Given the description of an element on the screen output the (x, y) to click on. 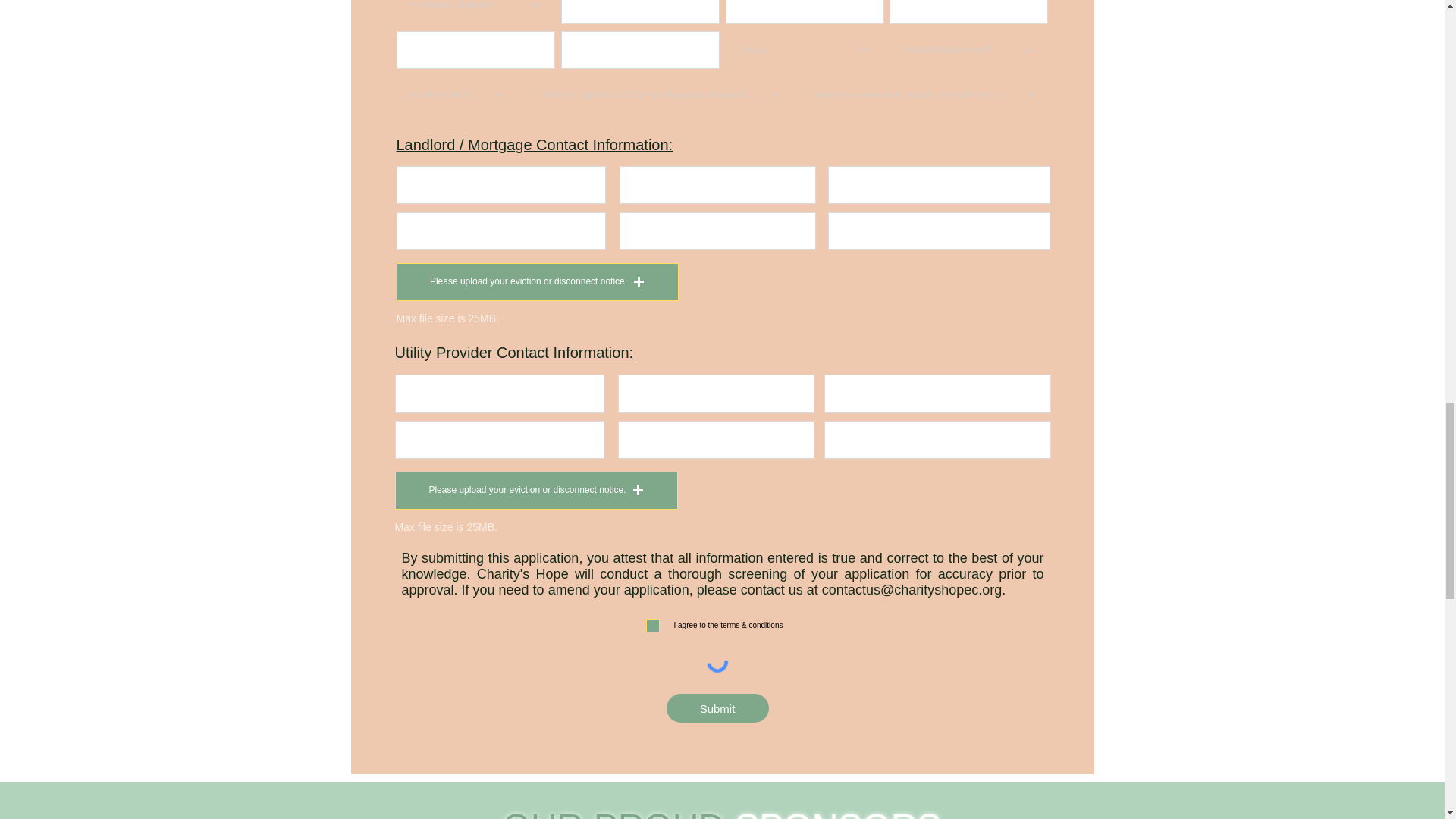
Submit (716, 707)
Max file size is 25MB. (446, 319)
Max file size is 25MB. (445, 527)
